Given the description of an element on the screen output the (x, y) to click on. 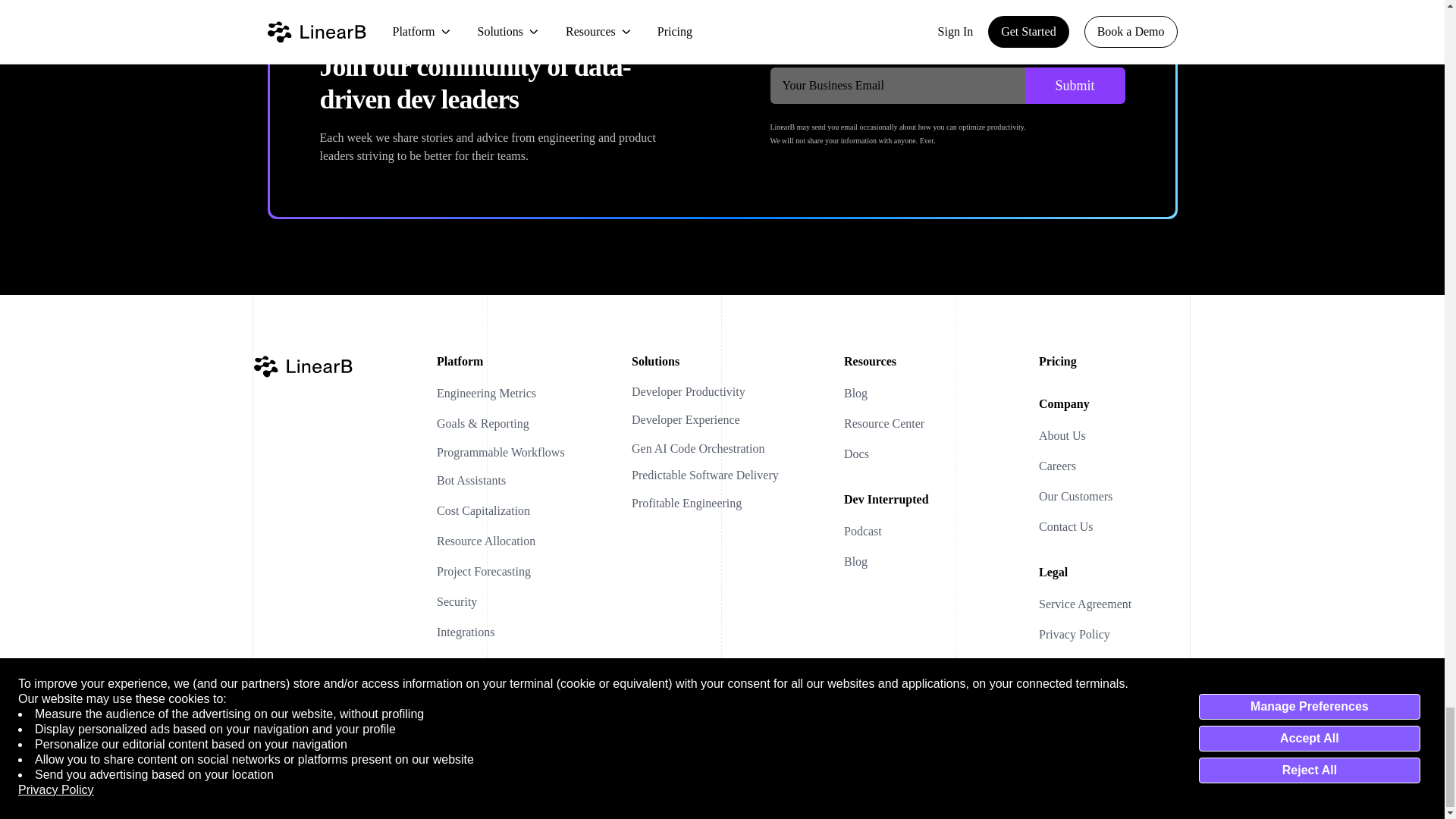
LinearB (302, 366)
